Given the description of an element on the screen output the (x, y) to click on. 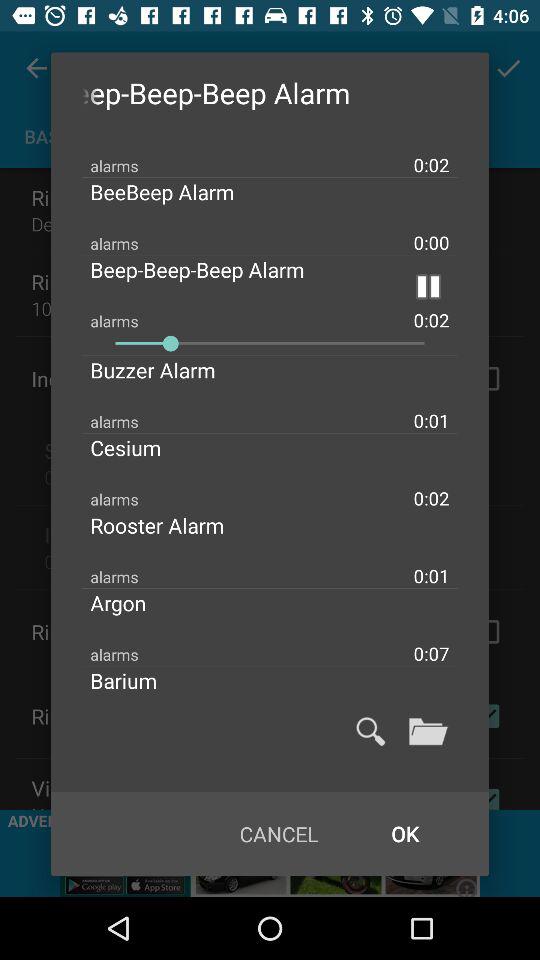
turn on item to the right of beep beep beep (428, 286)
